Given the description of an element on the screen output the (x, y) to click on. 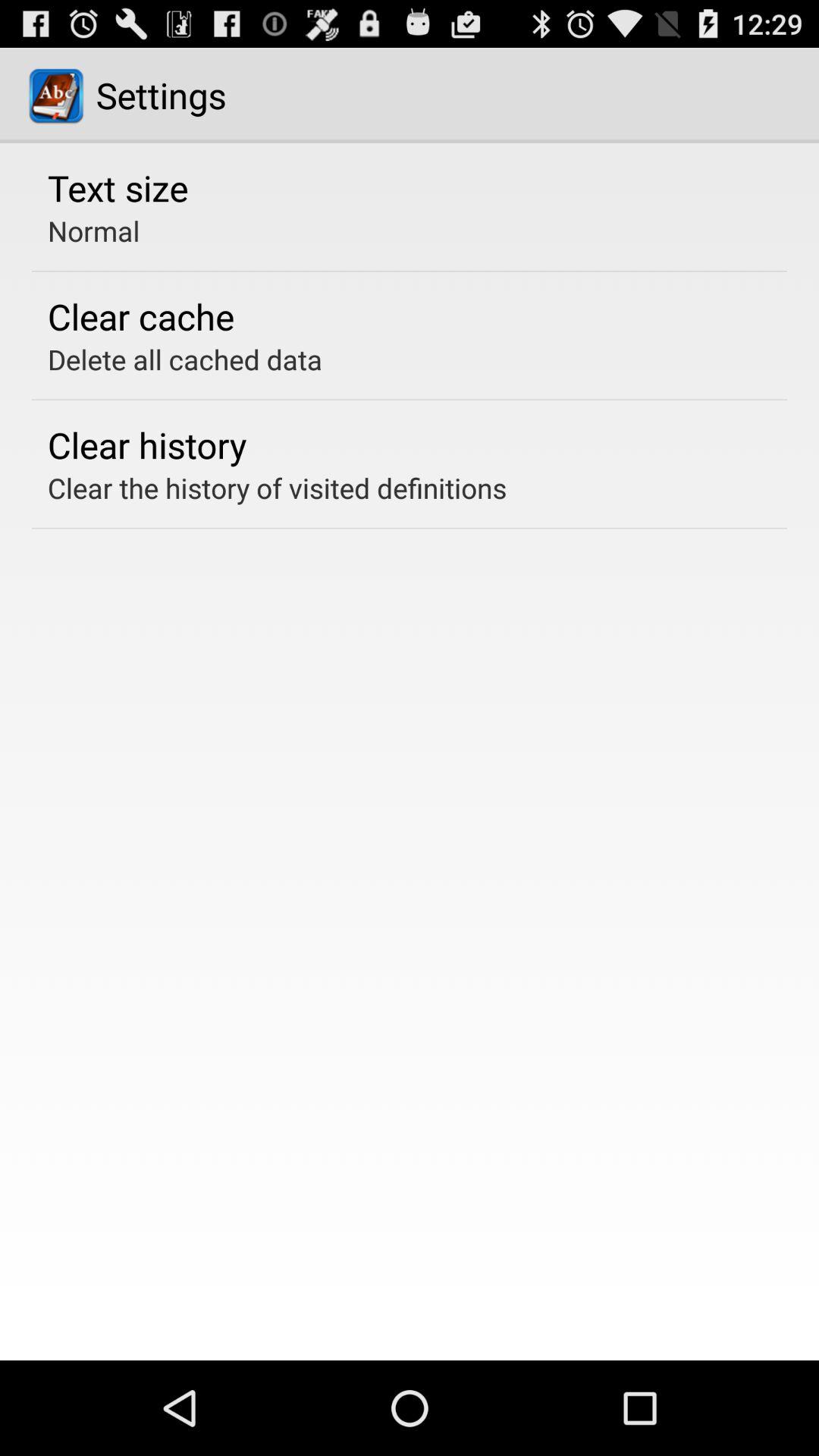
turn on app below the clear cache item (184, 359)
